Given the description of an element on the screen output the (x, y) to click on. 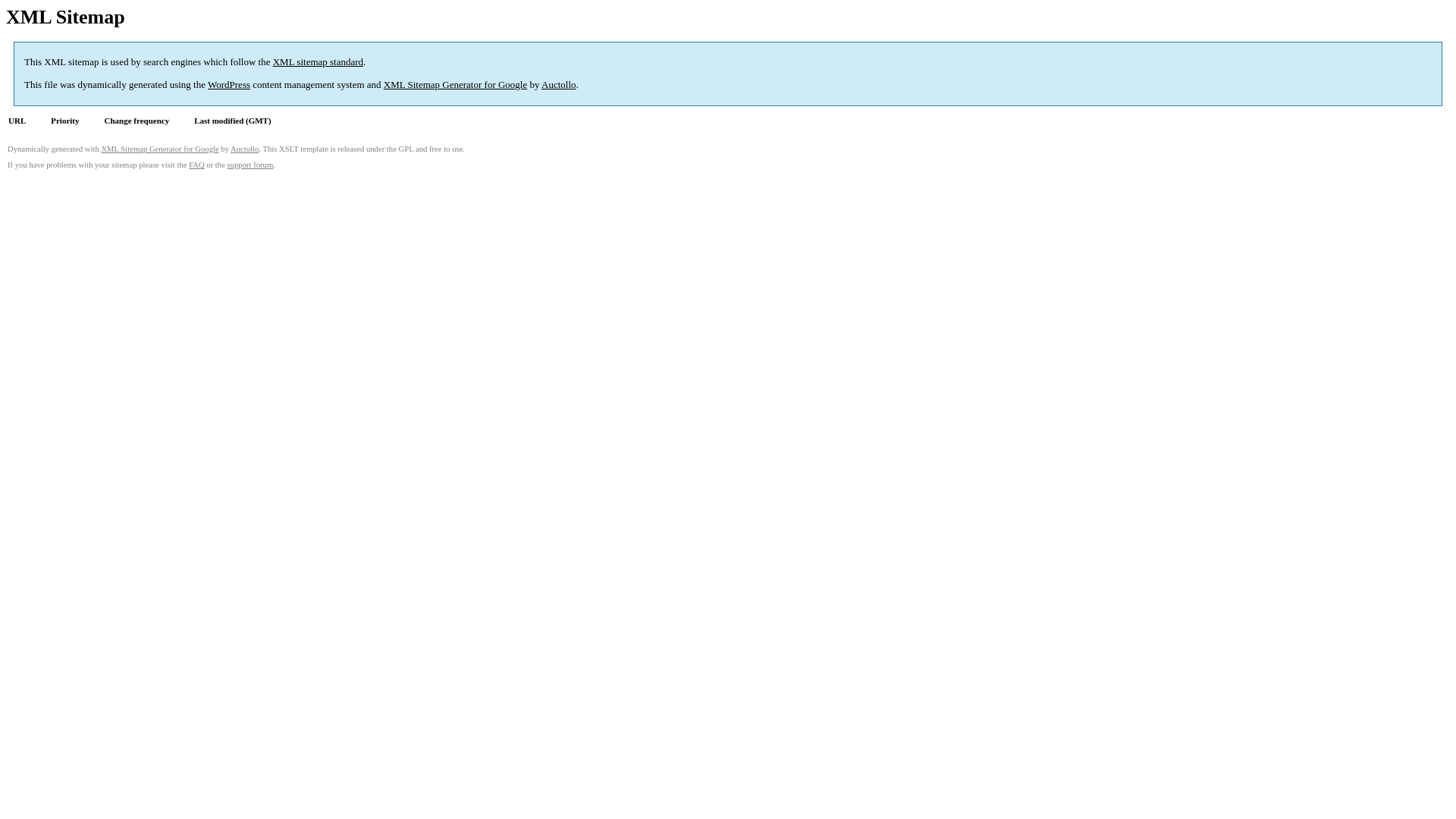
support forum Element type: text (250, 164)
XML sitemap standard Element type: text (318, 61)
WordPress Element type: text (228, 84)
Auctollo Element type: text (558, 84)
FAQ Element type: text (196, 164)
Auctollo Element type: text (244, 148)
XML Sitemap Generator for Google Element type: text (455, 84)
XML Sitemap Generator for Google Element type: text (159, 148)
